Given the description of an element on the screen output the (x, y) to click on. 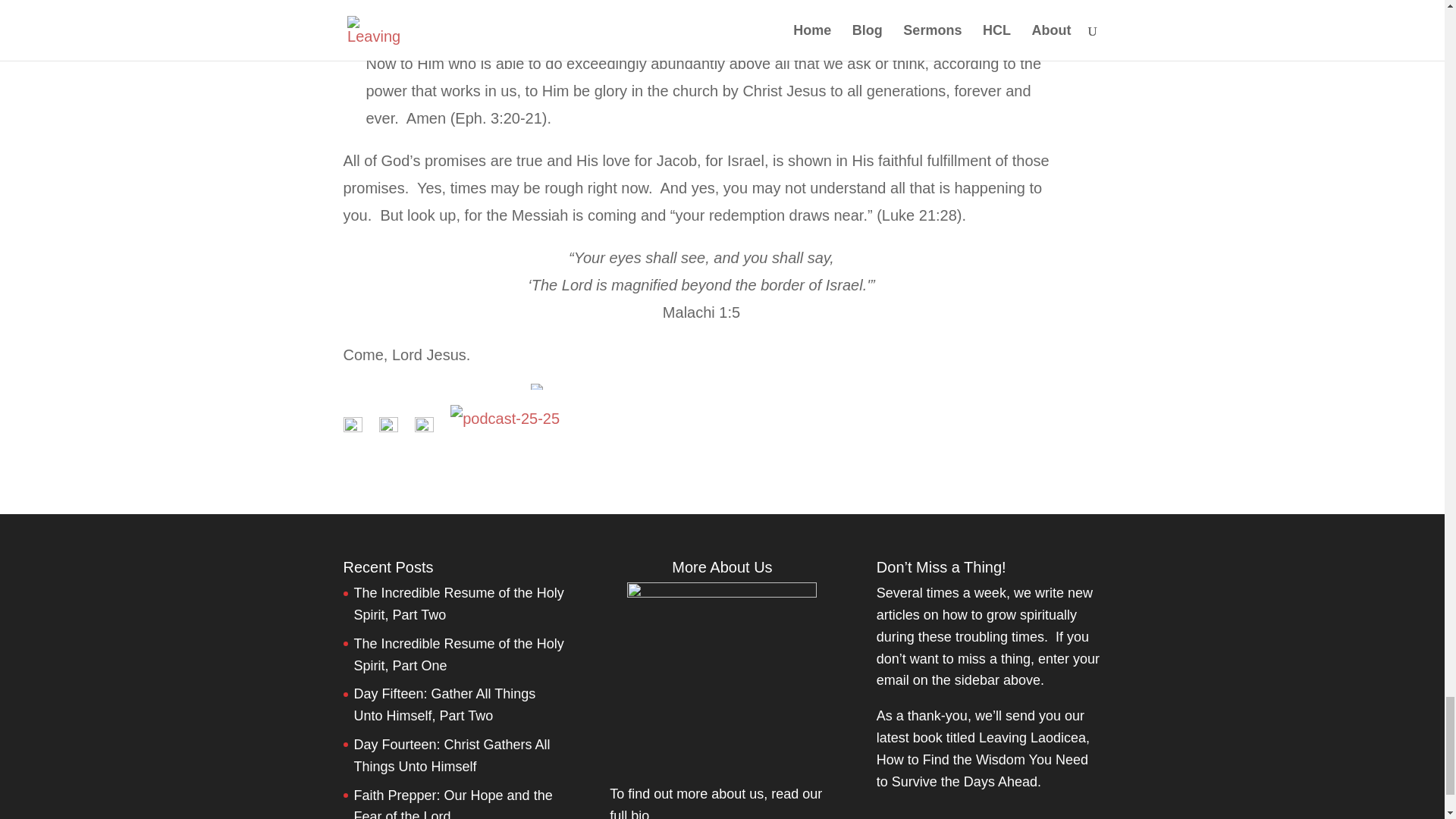
Faith Prepper: Our Hope and the Fear of the Lord (452, 803)
Day Fourteen: Christ Gathers All Things Unto Himself (451, 755)
full bio (629, 813)
The Incredible Resume of the Holy Spirit, Part One (458, 654)
The Incredible Resume of the Holy Spirit, Part Two (458, 603)
Day Fifteen: Gather All Things Unto Himself, Part Two (444, 704)
